Given the description of an element on the screen output the (x, y) to click on. 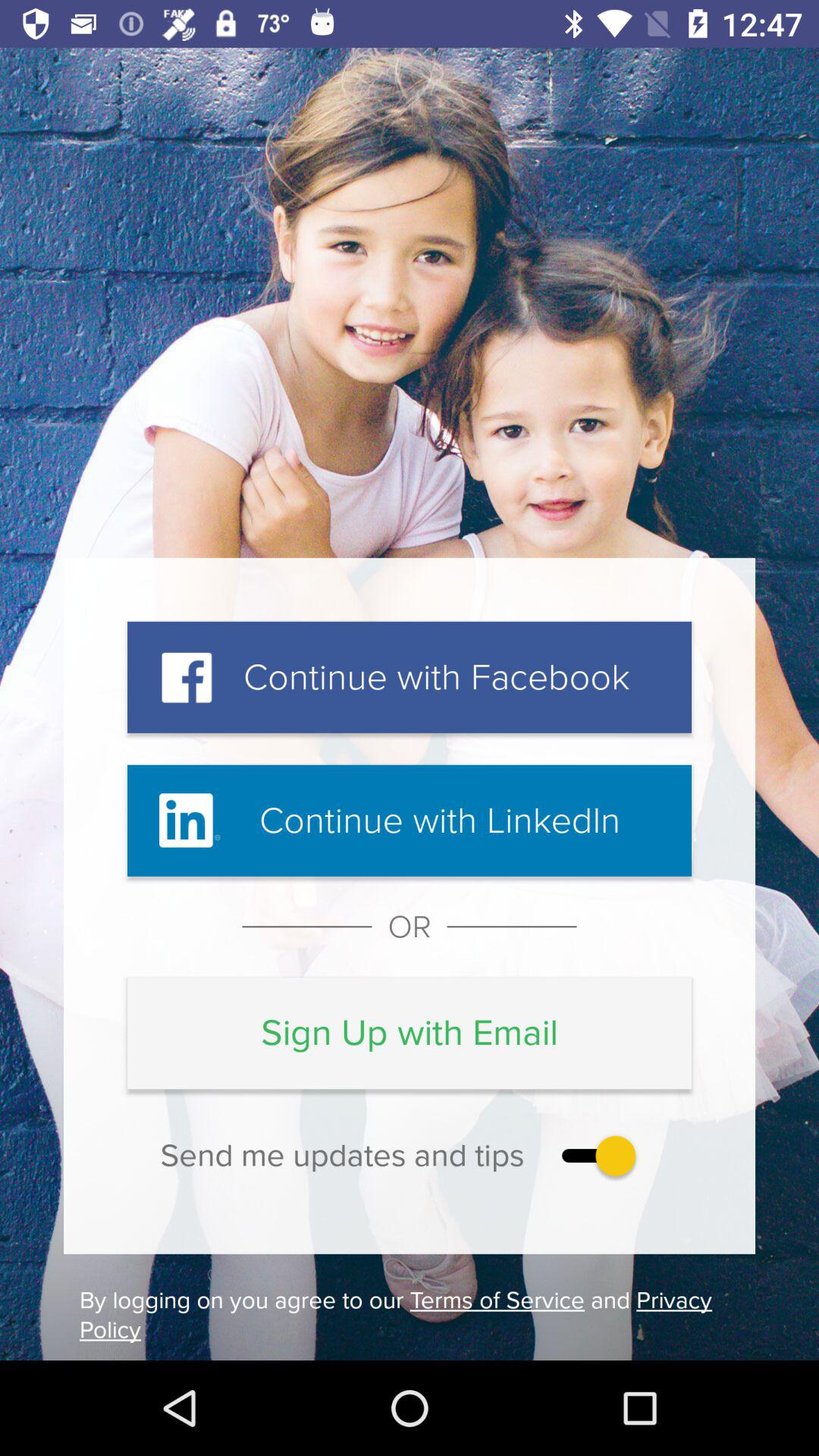
open icon below sign up with item (595, 1155)
